Given the description of an element on the screen output the (x, y) to click on. 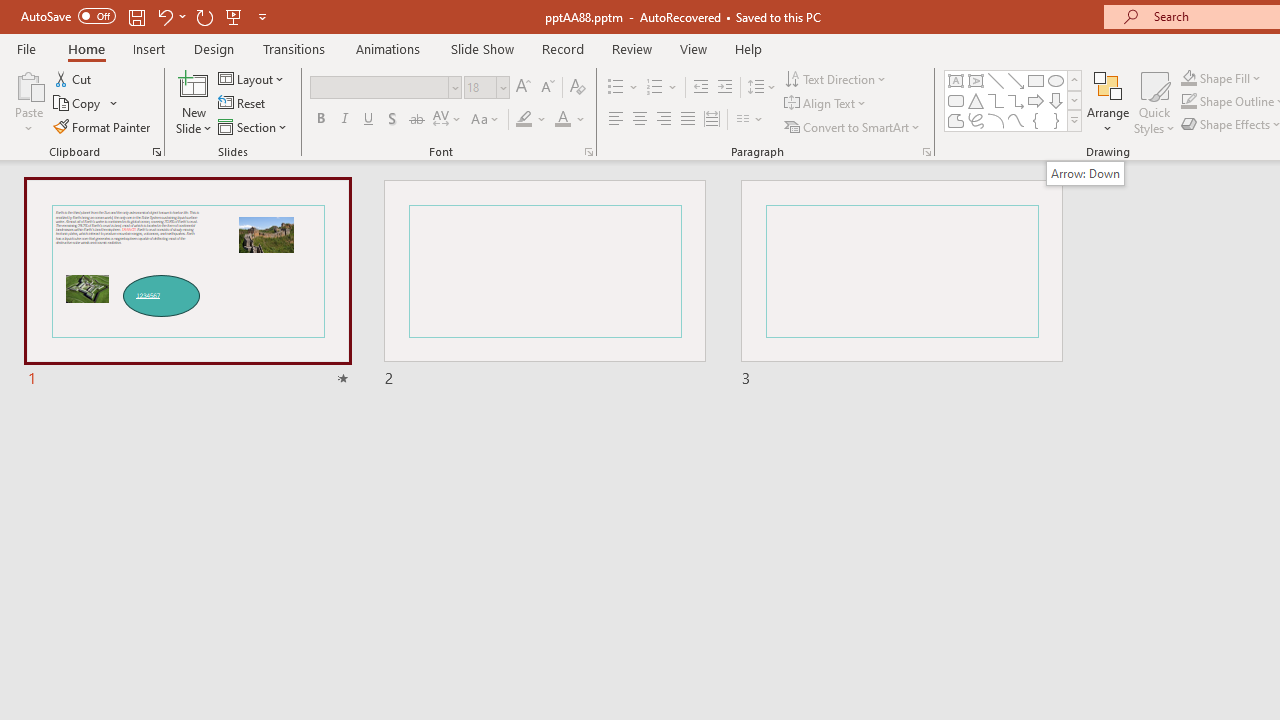
Text Highlight Color (531, 119)
Paragraph... (926, 151)
Text Box (955, 80)
Curve (1016, 120)
Convert to SmartArt (853, 126)
Isosceles Triangle (975, 100)
Cut (73, 78)
Freeform: Shape (955, 120)
Freeform: Scribble (975, 120)
Connector: Elbow (995, 100)
Italic (344, 119)
